Given the description of an element on the screen output the (x, y) to click on. 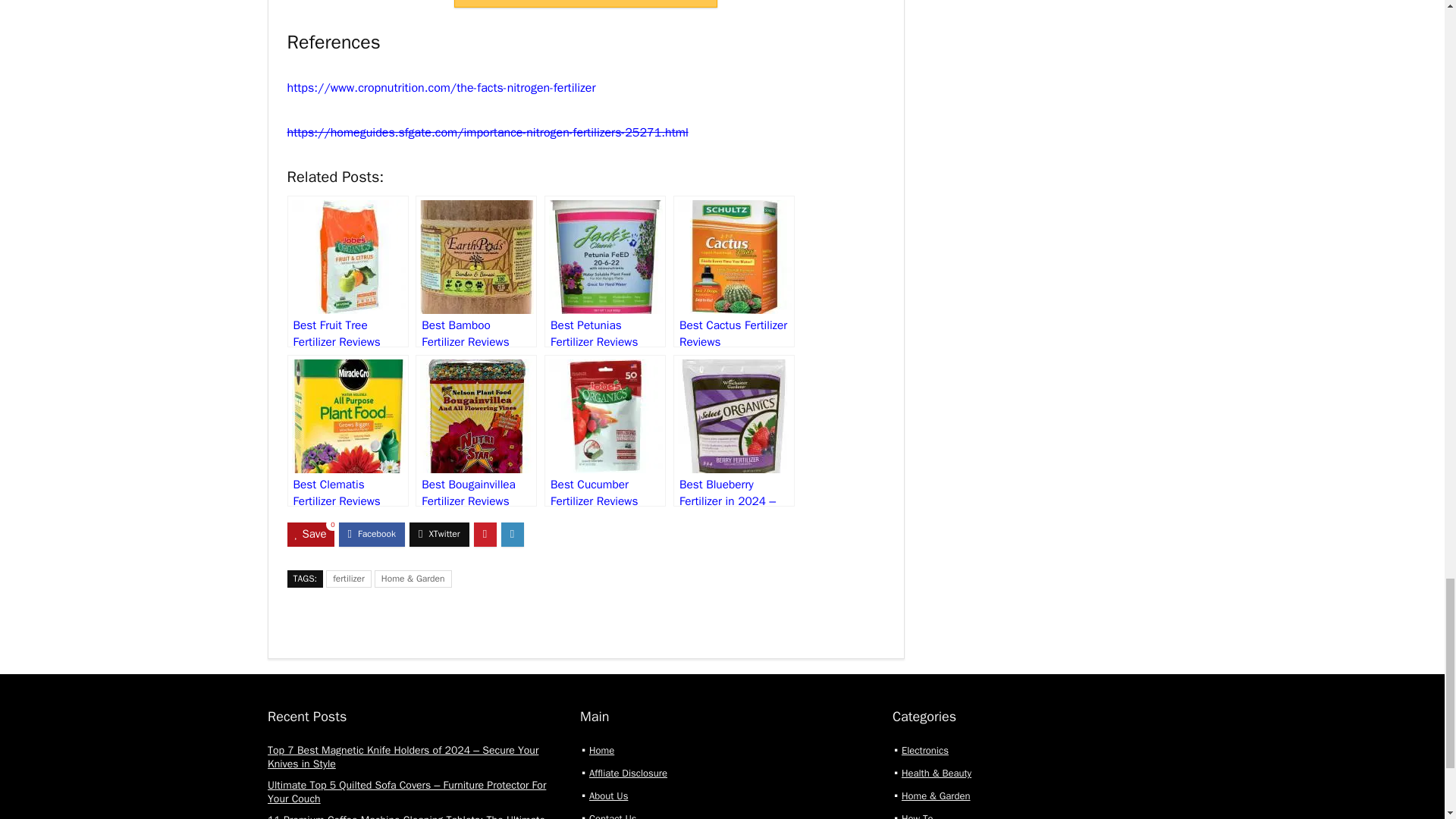
Best Clematis Fertilizer Reviews (346, 430)
Best Bougainvillea Fertilizer Reviews (475, 430)
Best Petunias Fertilizer Reviews (604, 271)
Best Fruit Tree Fertilizer Reviews (346, 271)
Click here for more information (585, 3)
Best Clematis Fertilizer Reviews (346, 430)
Best Cucumber Fertilizer Reviews (604, 430)
Best Cactus Fertilizer Reviews (733, 271)
fertilizer (348, 579)
Best Petunias Fertilizer Reviews (604, 271)
Best Cucumber Fertilizer Reviews (604, 430)
Best Bougainvillea Fertilizer Reviews (475, 430)
Best Bamboo Fertilizer Reviews (475, 271)
Best Cactus Fertilizer Reviews (733, 271)
Best Bamboo Fertilizer Reviews (475, 271)
